Given the description of an element on the screen output the (x, y) to click on. 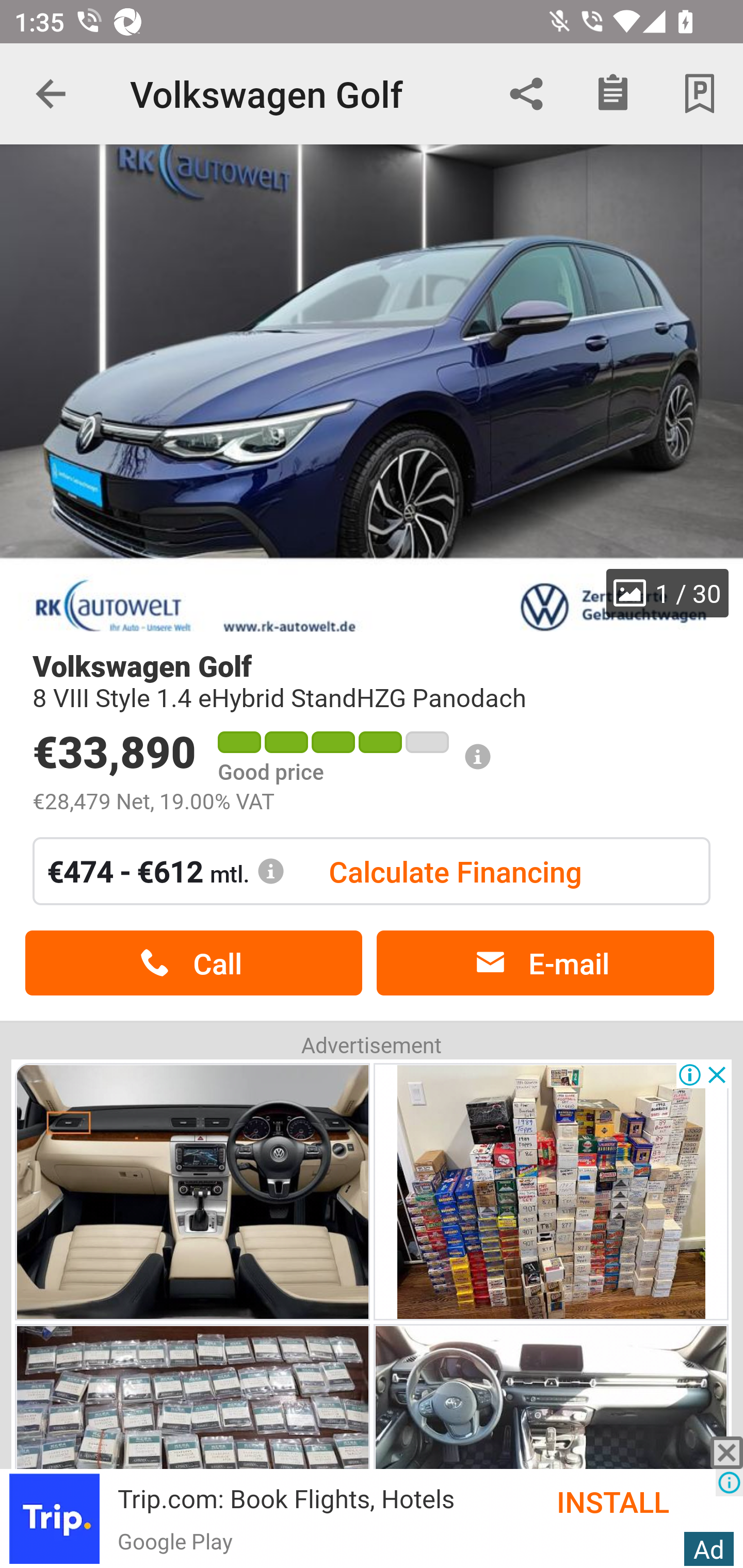
Navigate up (50, 93)
Share via (525, 93)
Checklist (612, 93)
Park (699, 93)
Calculate Financing (454, 870)
€474 - €612 mtl. (165, 870)
Call (193, 963)
E-mail (545, 963)
Ad Choices Icon (729, 1482)
INSTALL (635, 1500)
Trip.com: Book Flights, Hotels (285, 1497)
Google Play (174, 1540)
